Given the description of an element on the screen output the (x, y) to click on. 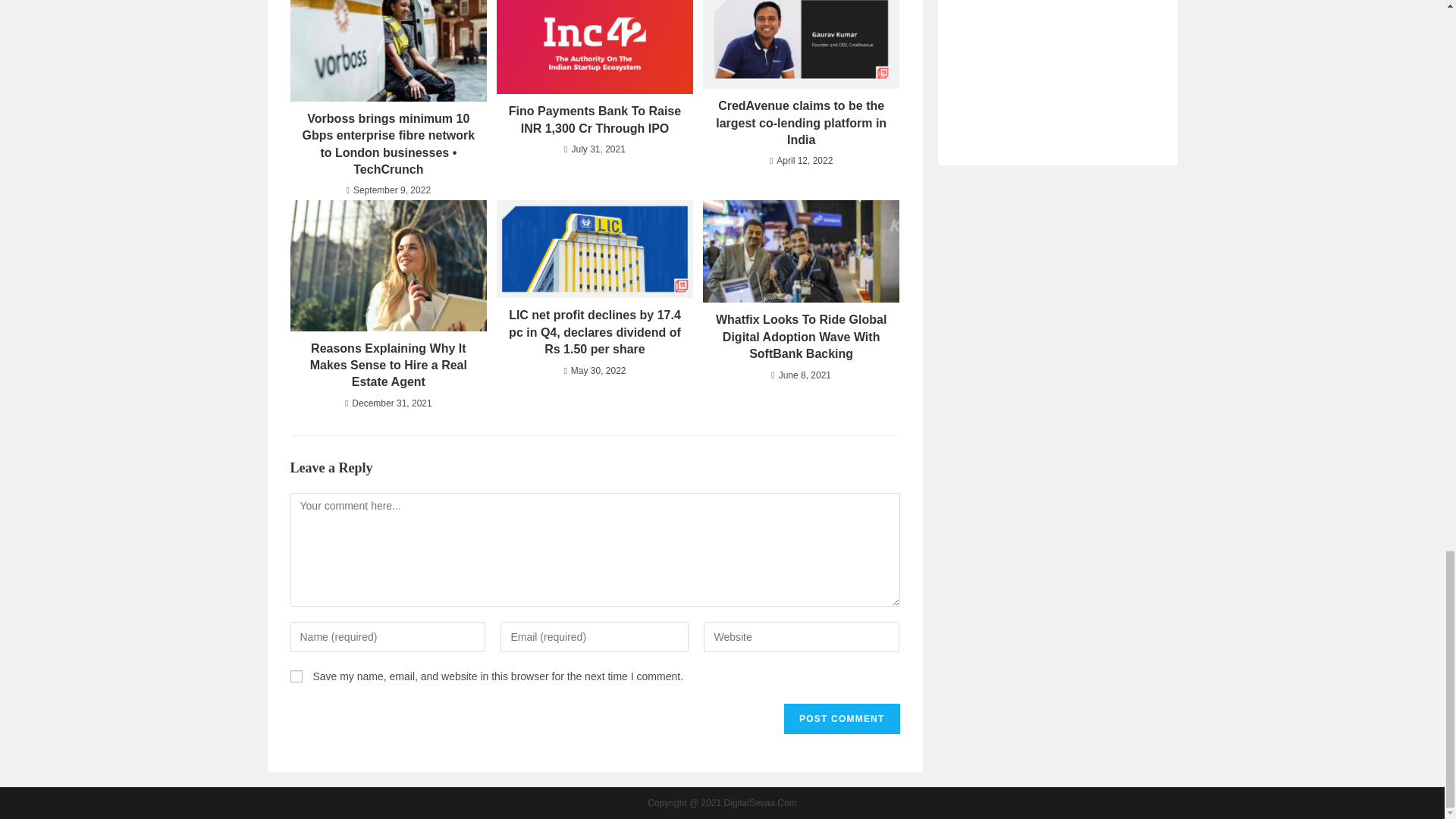
Advertisement (1056, 61)
Post Comment (841, 718)
Post Comment (841, 718)
Fino Payments Bank To Raise INR 1,300 Cr Through IPO (594, 120)
yes (295, 676)
